Given the description of an element on the screen output the (x, y) to click on. 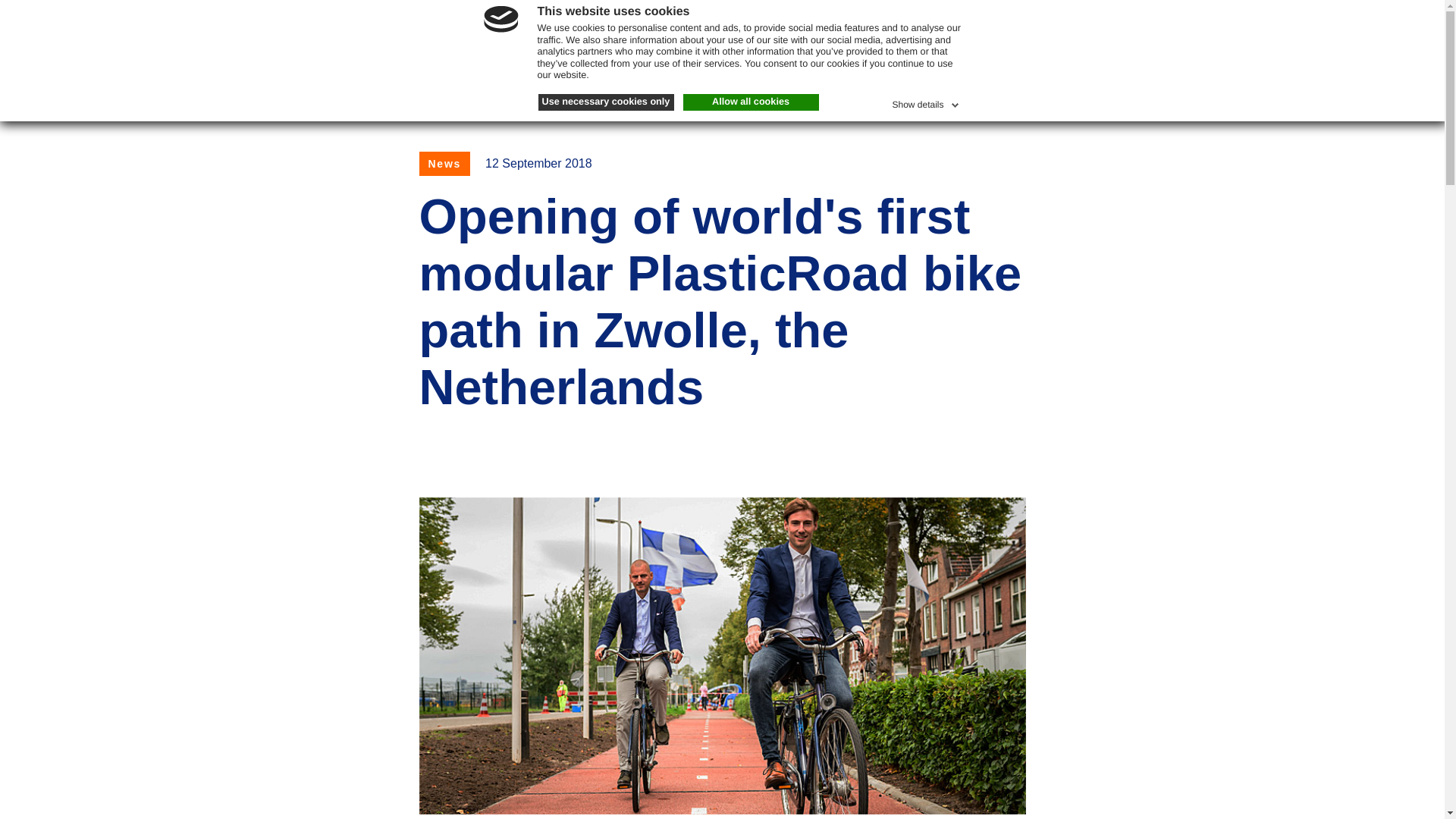
Show details (925, 102)
Use necessary cookies only (606, 102)
Allow all cookies (750, 102)
